Given the description of an element on the screen output the (x, y) to click on. 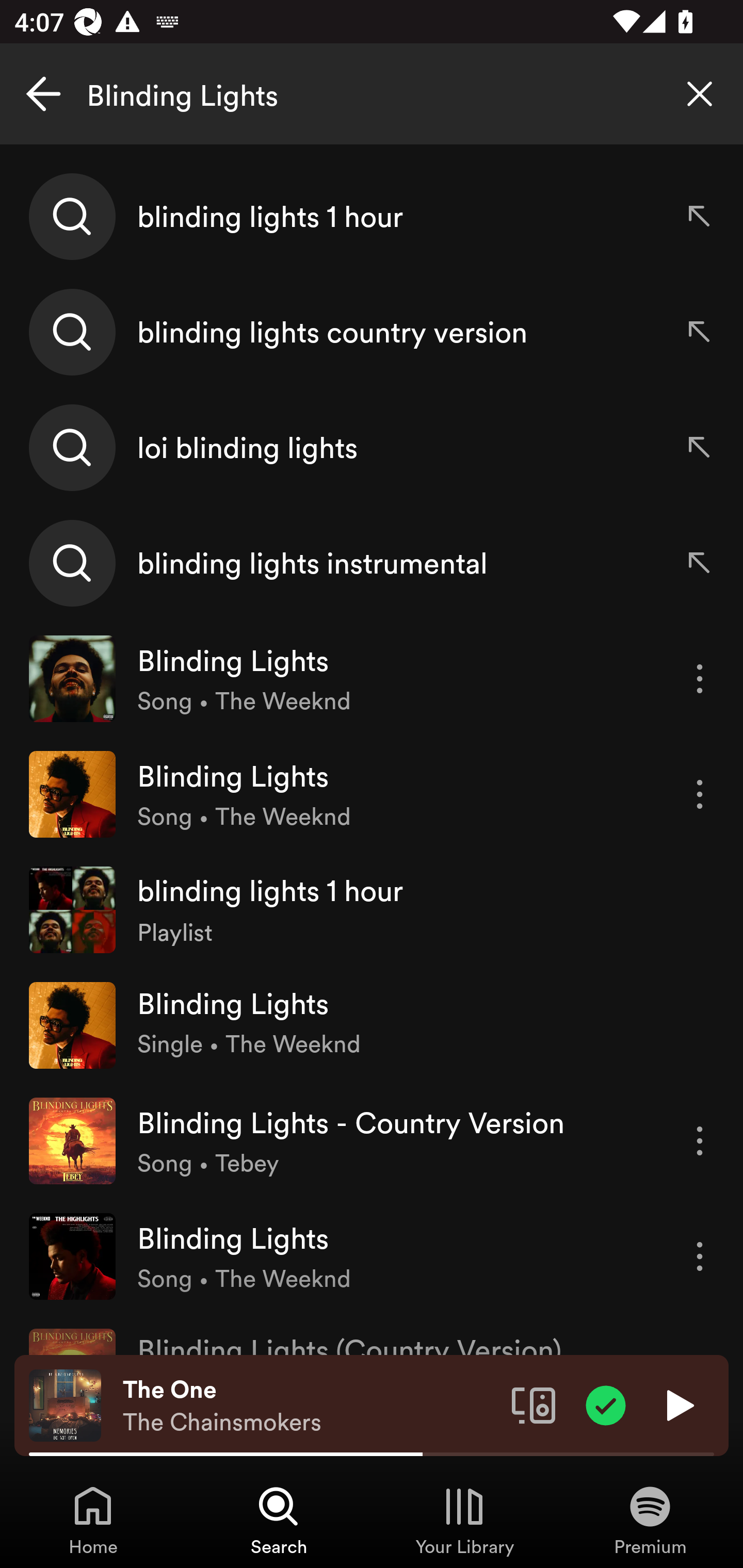
Blinding Lights (371, 93)
Cancel (43, 93)
Clear search query (699, 93)
blinding lights 1 hour (371, 216)
blinding lights country version (371, 332)
loi blinding lights (371, 447)
blinding lights instrumental (371, 562)
More options for song Blinding Lights (699, 678)
More options for song Blinding Lights (699, 794)
blinding lights 1 hour Playlist (371, 909)
Blinding Lights Single • The Weeknd (371, 1025)
More options for song Blinding Lights (699, 1256)
The One The Chainsmokers (309, 1405)
The cover art of the currently playing track (64, 1404)
Connect to a device. Opens the devices menu (533, 1404)
Item added (605, 1404)
Play (677, 1404)
Home, Tab 1 of 4 Home Home (92, 1519)
Search, Tab 2 of 4 Search Search (278, 1519)
Your Library, Tab 3 of 4 Your Library Your Library (464, 1519)
Premium, Tab 4 of 4 Premium Premium (650, 1519)
